Given the description of an element on the screen output the (x, y) to click on. 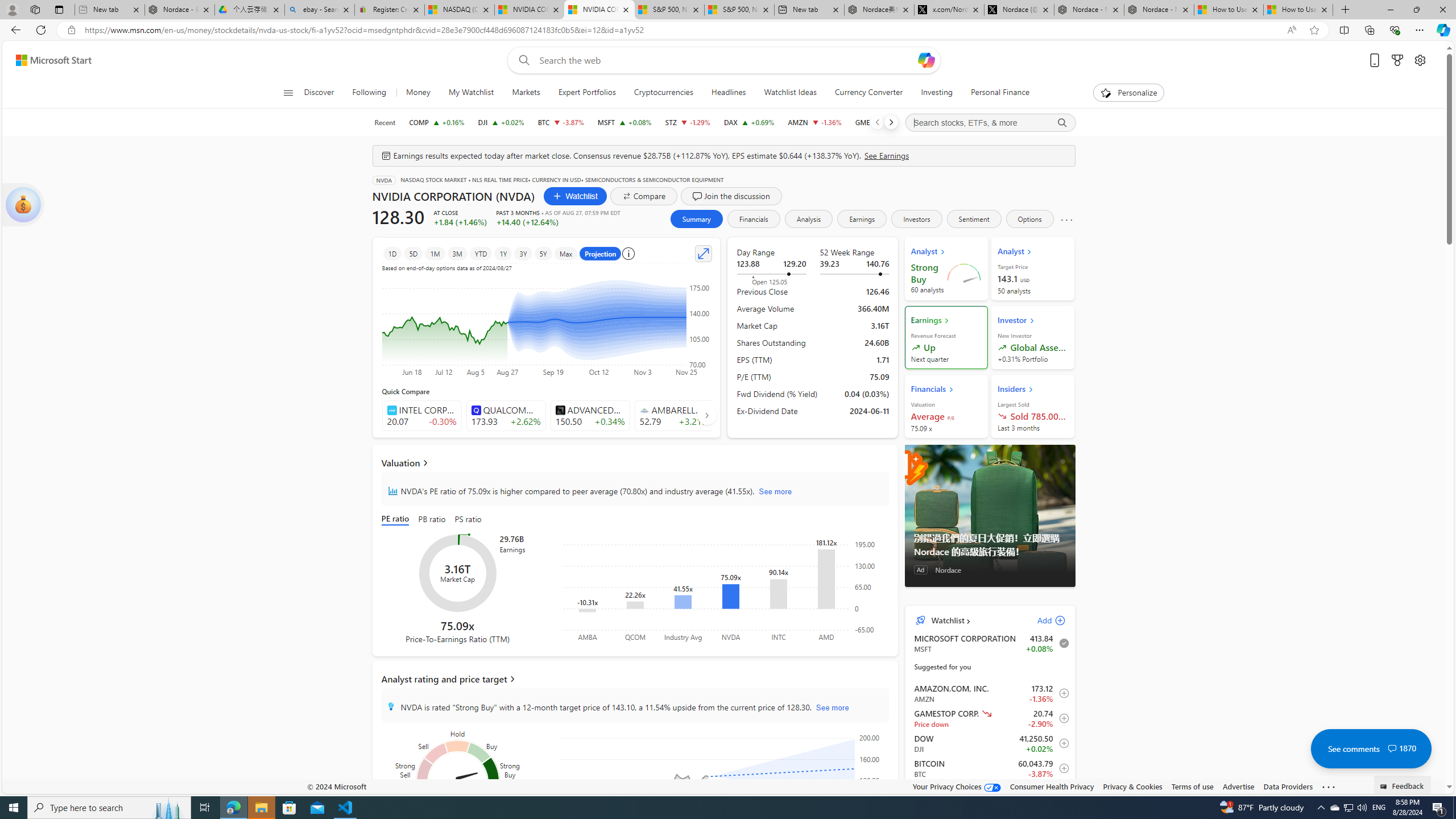
Recent (385, 121)
Enter your search term (726, 59)
Earnings (861, 218)
Consumer Health Privacy (1051, 785)
Open navigation menu (287, 92)
Compare (644, 195)
Analyst rating and price target (635, 678)
Headlines (728, 92)
My Watchlist (470, 92)
